Given the description of an element on the screen output the (x, y) to click on. 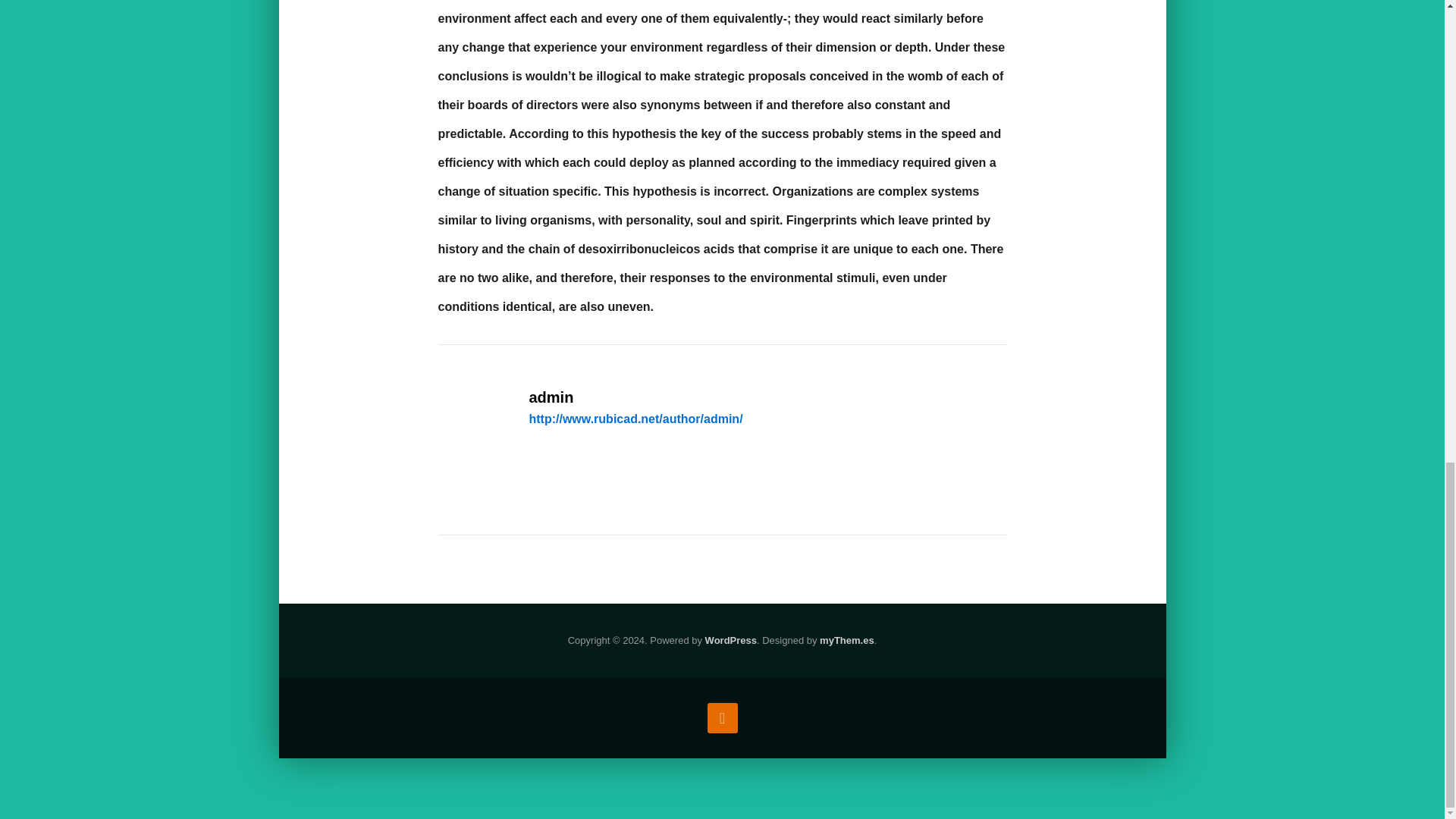
myThem.es (847, 641)
myThem.es (847, 641)
WordPress (730, 641)
